Given the description of an element on the screen output the (x, y) to click on. 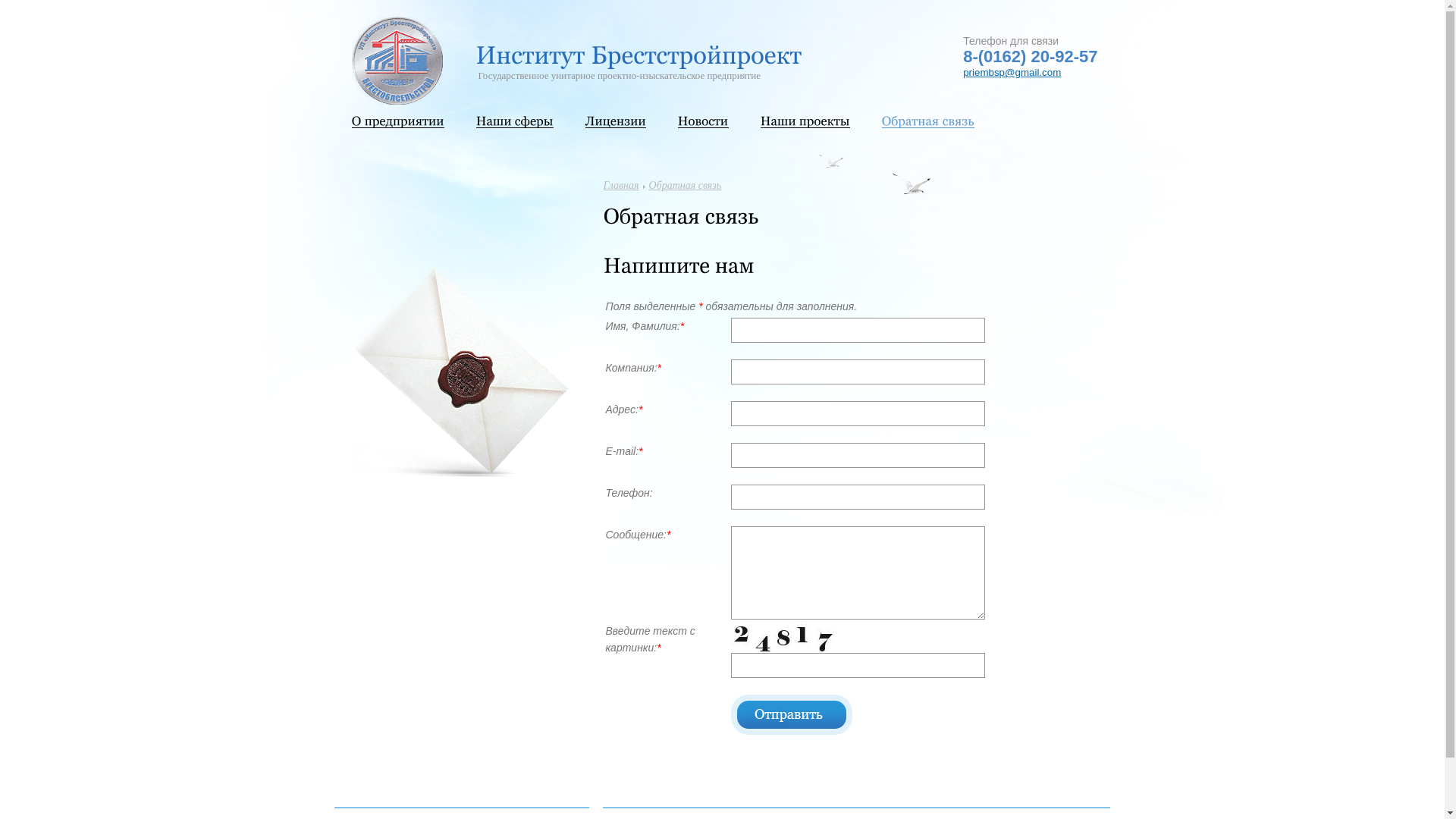
priembsp@gmail.com Element type: text (1011, 72)
